Given the description of an element on the screen output the (x, y) to click on. 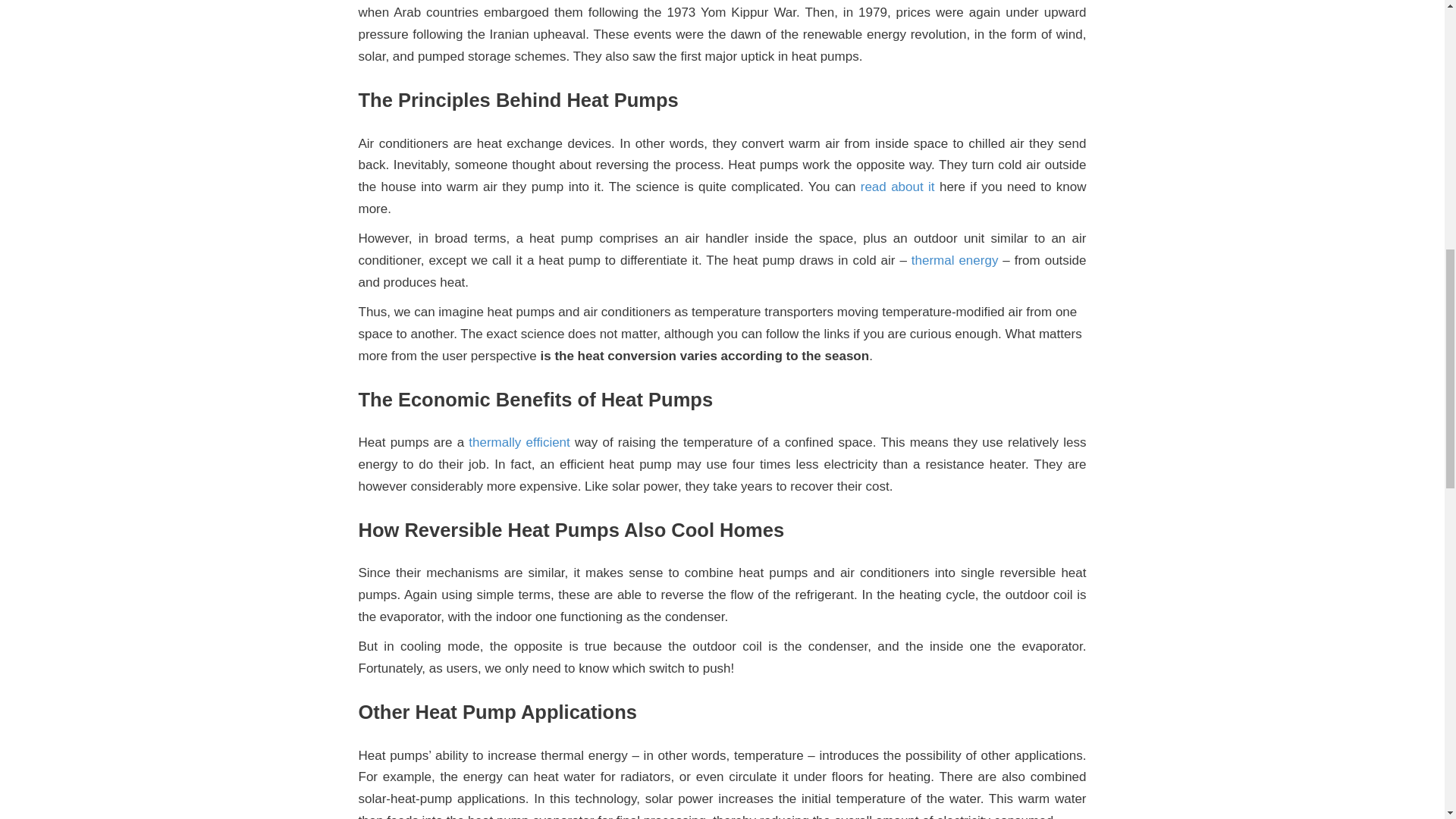
read about it (897, 186)
thermal energy (954, 260)
thermally efficient (518, 441)
